Given the description of an element on the screen output the (x, y) to click on. 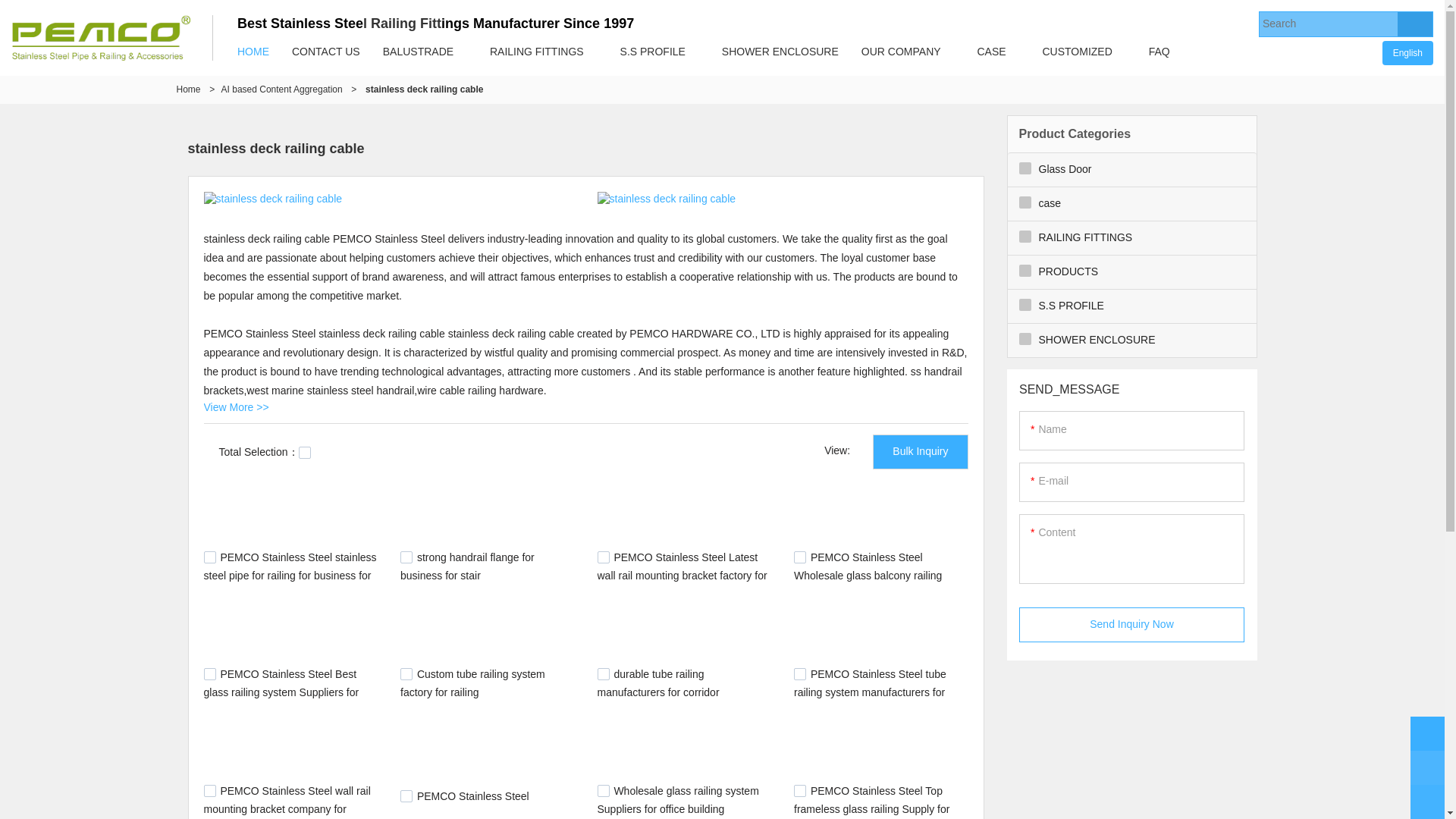
CONTACT US (326, 51)
HOME (253, 51)
16525 (209, 557)
14605 (603, 790)
RAILING FITTINGS (537, 51)
14789 (209, 674)
strong handrail flange for business for stair (467, 566)
Custom tube railing system factory for railing (472, 683)
durable tube railing manufacturers for corridor (657, 683)
14646 (406, 796)
15315 (406, 557)
14781 (406, 674)
BALUSTRADE (417, 51)
